Given the description of an element on the screen output the (x, y) to click on. 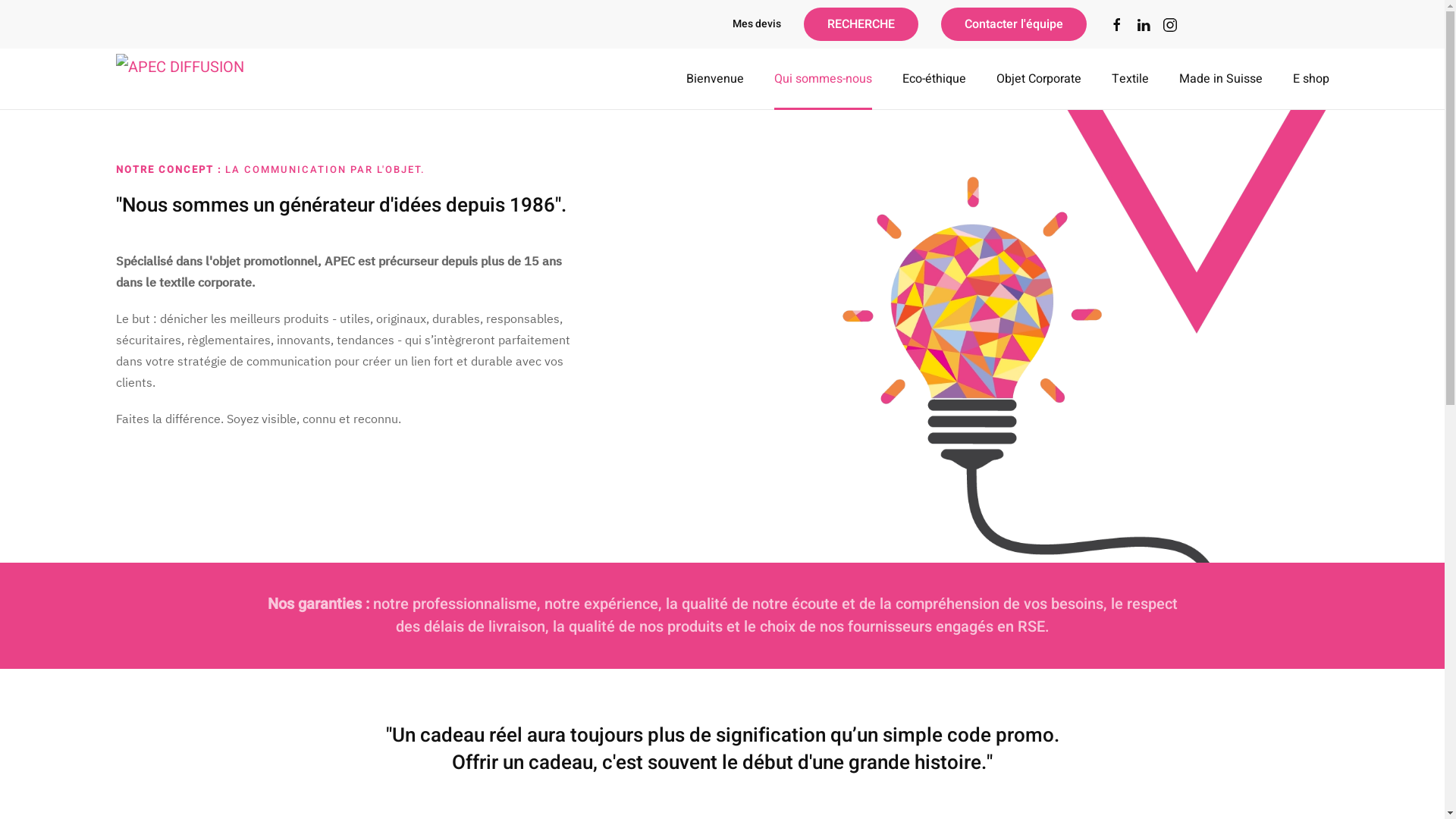
Mes devis Element type: text (756, 24)
Textile Element type: text (1129, 78)
Made in Suisse Element type: text (1219, 78)
RECHERCHE Element type: text (860, 23)
E shop Element type: text (1310, 78)
Objet Corporate Element type: text (1038, 78)
Qui sommes-nous Element type: text (822, 78)
Bienvenue Element type: text (714, 78)
